Given the description of an element on the screen output the (x, y) to click on. 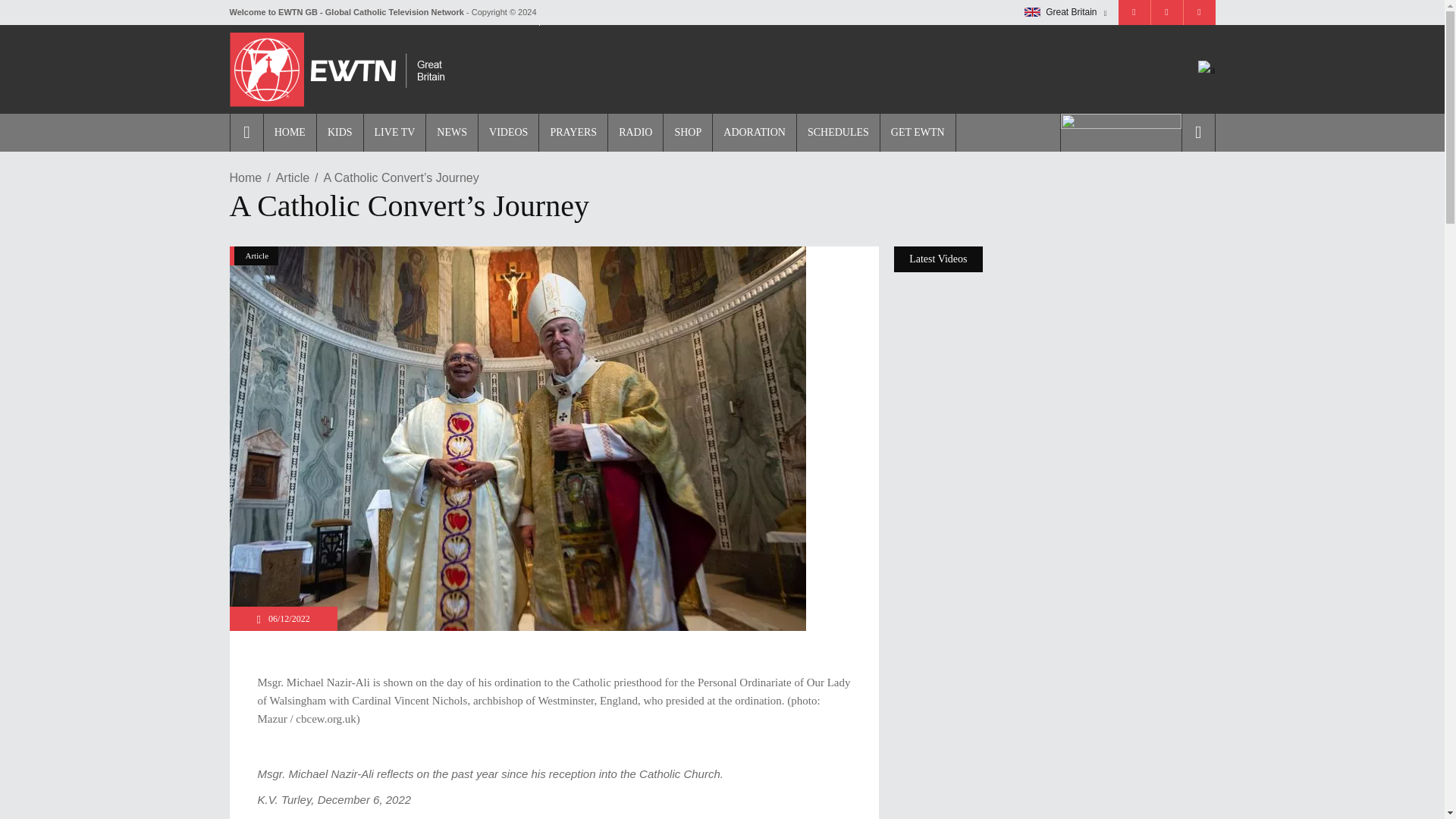
LIVE TV (394, 132)
SHOP (686, 132)
  Great Britain (1065, 12)
RADIO (634, 132)
GET EWTN (917, 132)
PRAYERS (572, 132)
NEWS (451, 132)
KIDS (338, 132)
VIDEOS (507, 132)
ADORATION (753, 132)
